Given the description of an element on the screen output the (x, y) to click on. 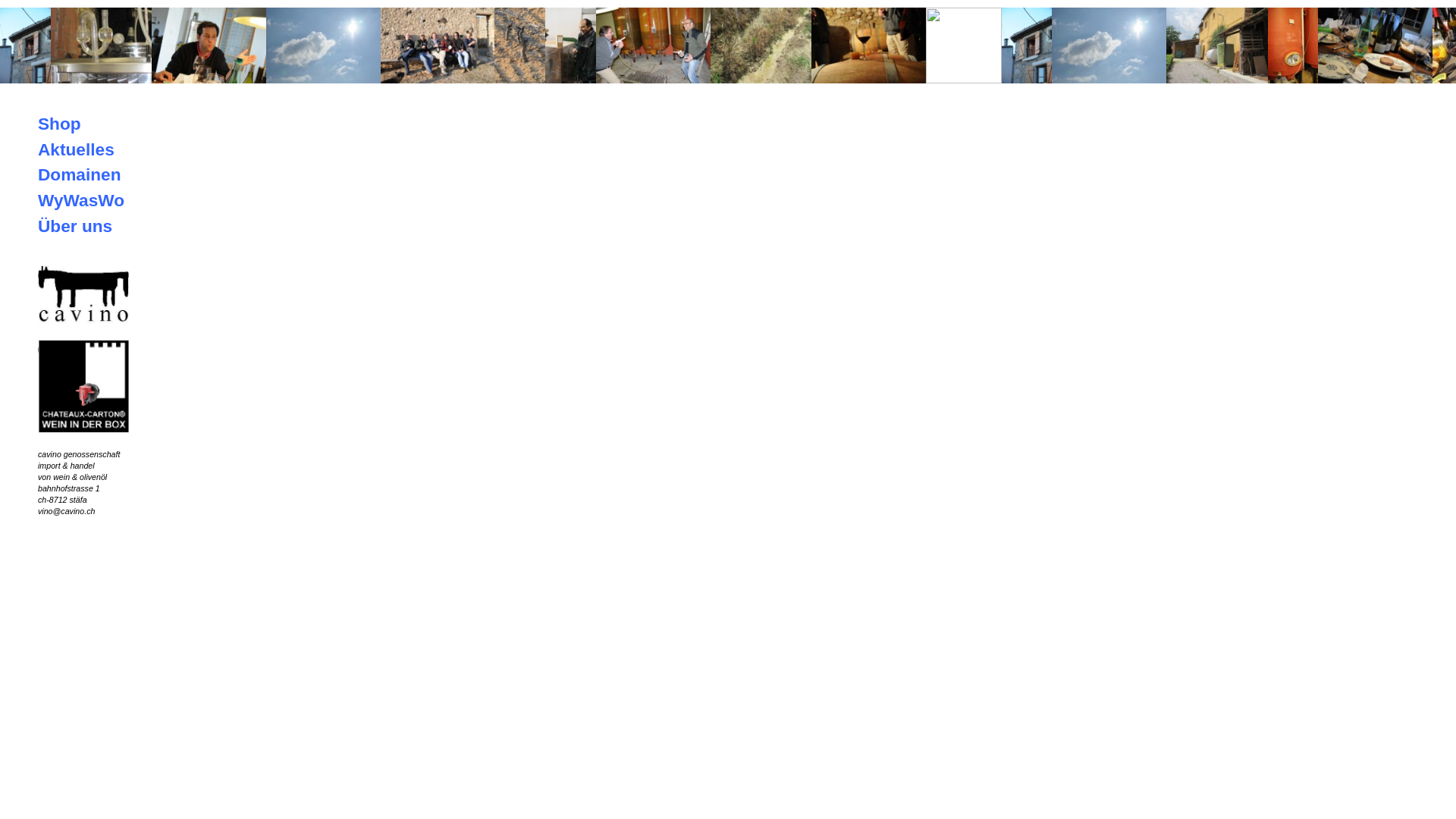
Domainen Element type: text (79, 174)
Shop Element type: text (59, 123)
WyWasWo Element type: text (80, 200)
Aktuelles Element type: text (75, 149)
